Given the description of an element on the screen output the (x, y) to click on. 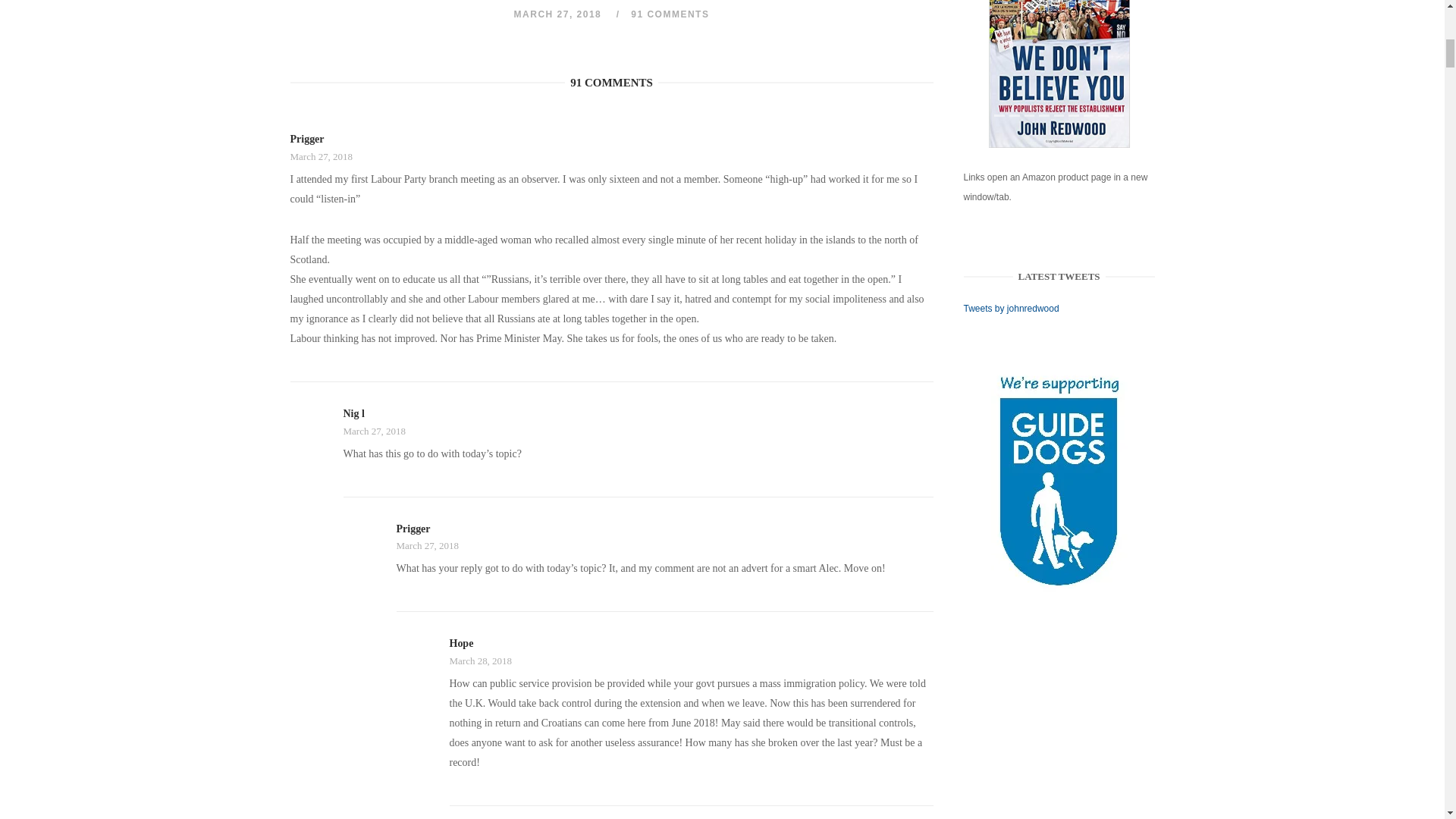
No to an NHS tax (1058, 74)
Tweets by johnredwood (1011, 308)
